Given the description of an element on the screen output the (x, y) to click on. 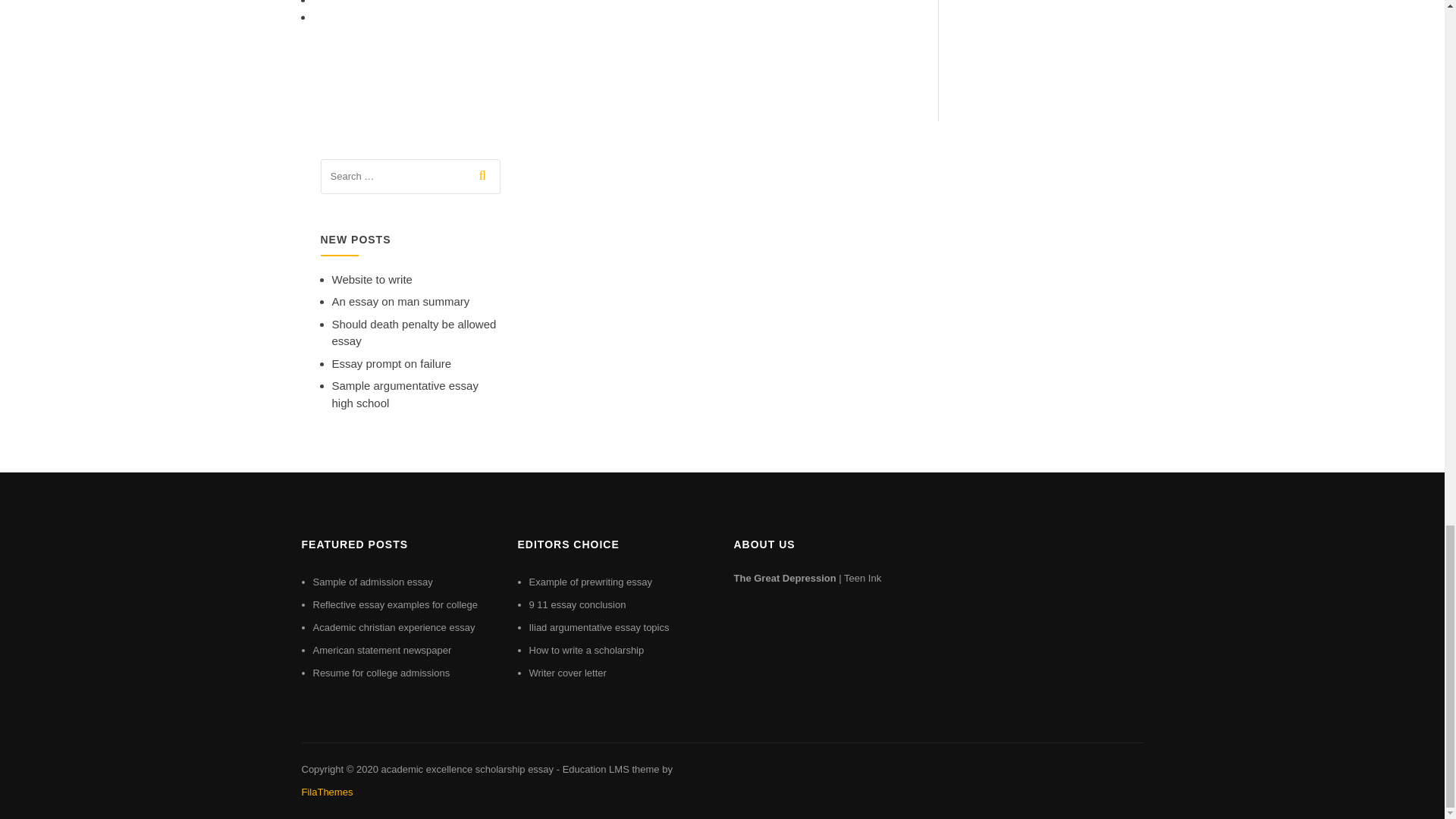
9 11 essay conclusion (577, 604)
Iliad argumentative essay topics (599, 627)
Writer cover letter (568, 672)
American statement newspaper (382, 650)
An essay on man summary (400, 300)
Academic christian experience essay (393, 627)
How to write a scholarship (587, 650)
Sample of admission essay (372, 582)
Resume for college admissions (381, 672)
Essay prompt on failure (391, 363)
Sample argumentative essay high school (405, 394)
academic excellence scholarship essay (466, 768)
Website to write (371, 278)
academic excellence scholarship essay (466, 768)
Example of prewriting essay (590, 582)
